Given the description of an element on the screen output the (x, y) to click on. 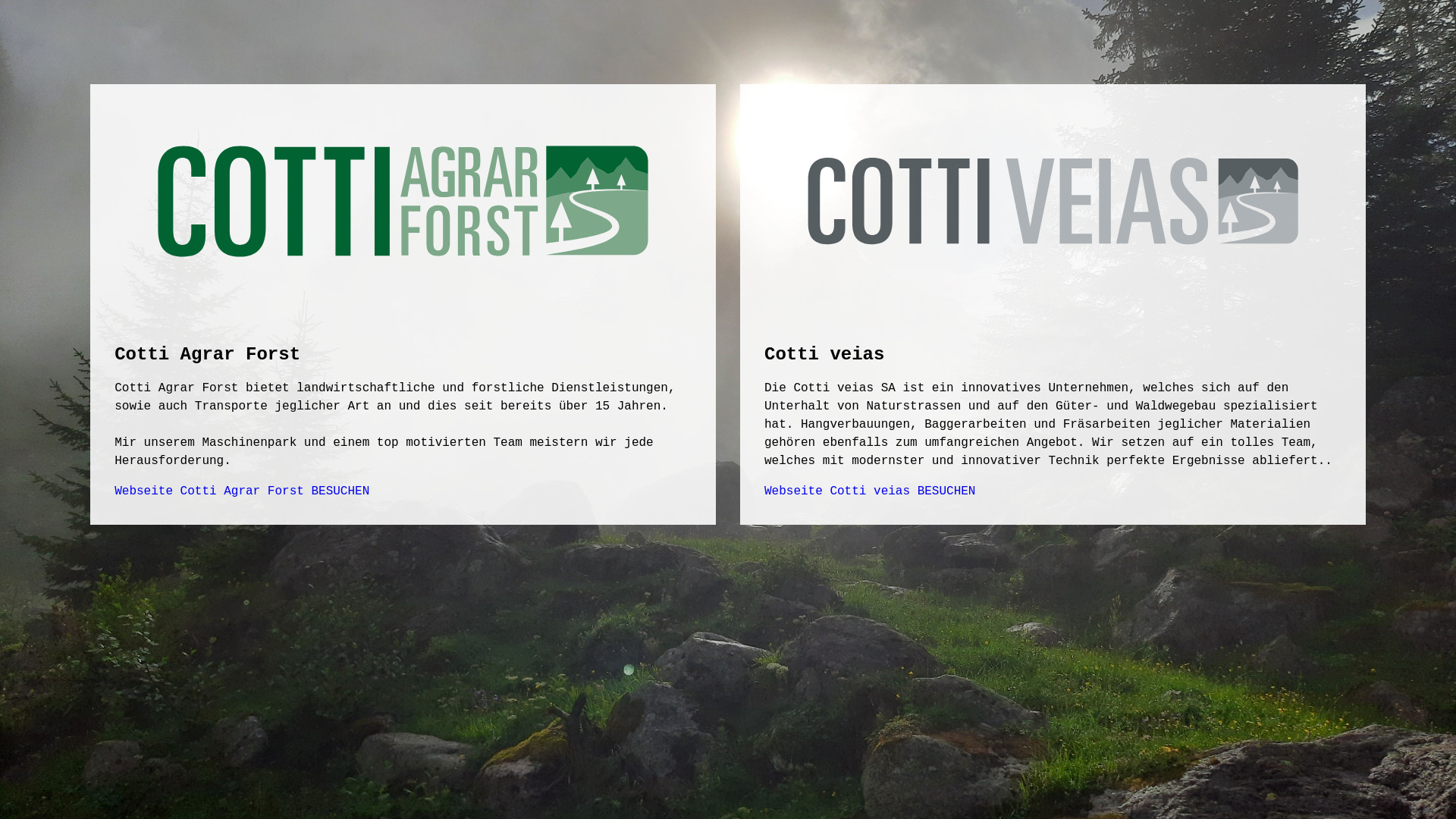
Webseite Cotti Agrar Forst BESUCHEN Element type: text (241, 491)
Webseite Cotti veias BESUCHEN Element type: text (869, 491)
